Given the description of an element on the screen output the (x, y) to click on. 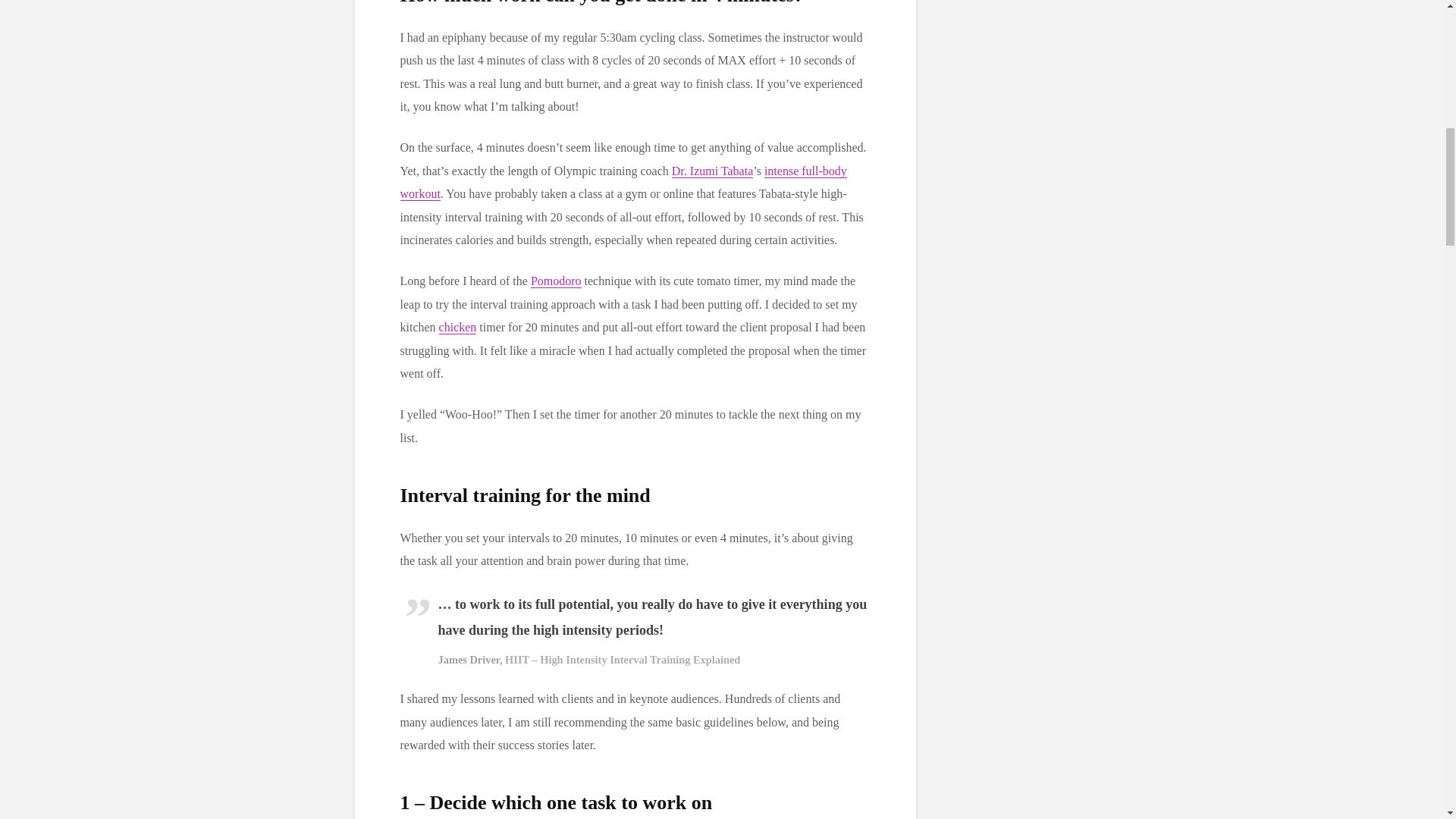
Dr. Izumi Tabata (711, 171)
chicken (458, 327)
intense full-body workout (623, 182)
Pomodoro (555, 281)
